Given the description of an element on the screen output the (x, y) to click on. 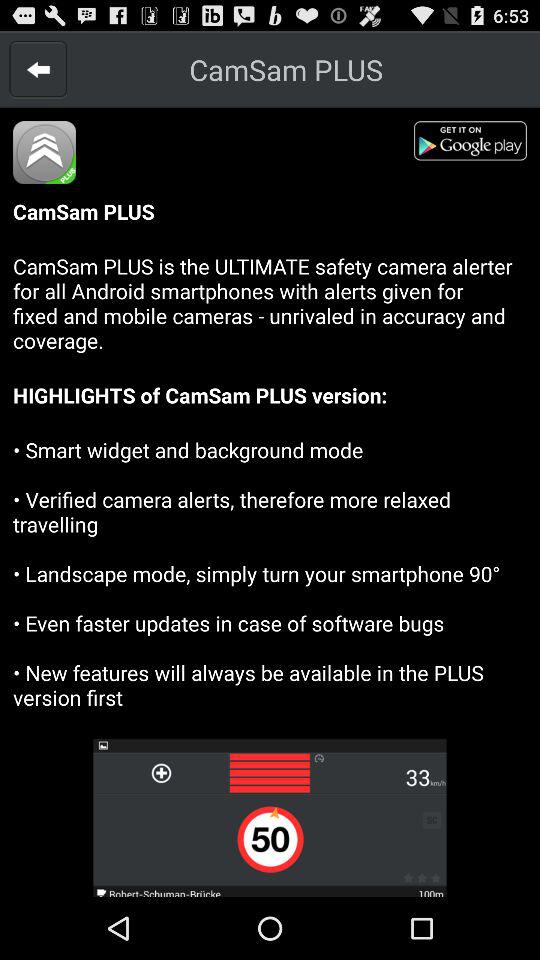
download app (477, 144)
